Given the description of an element on the screen output the (x, y) to click on. 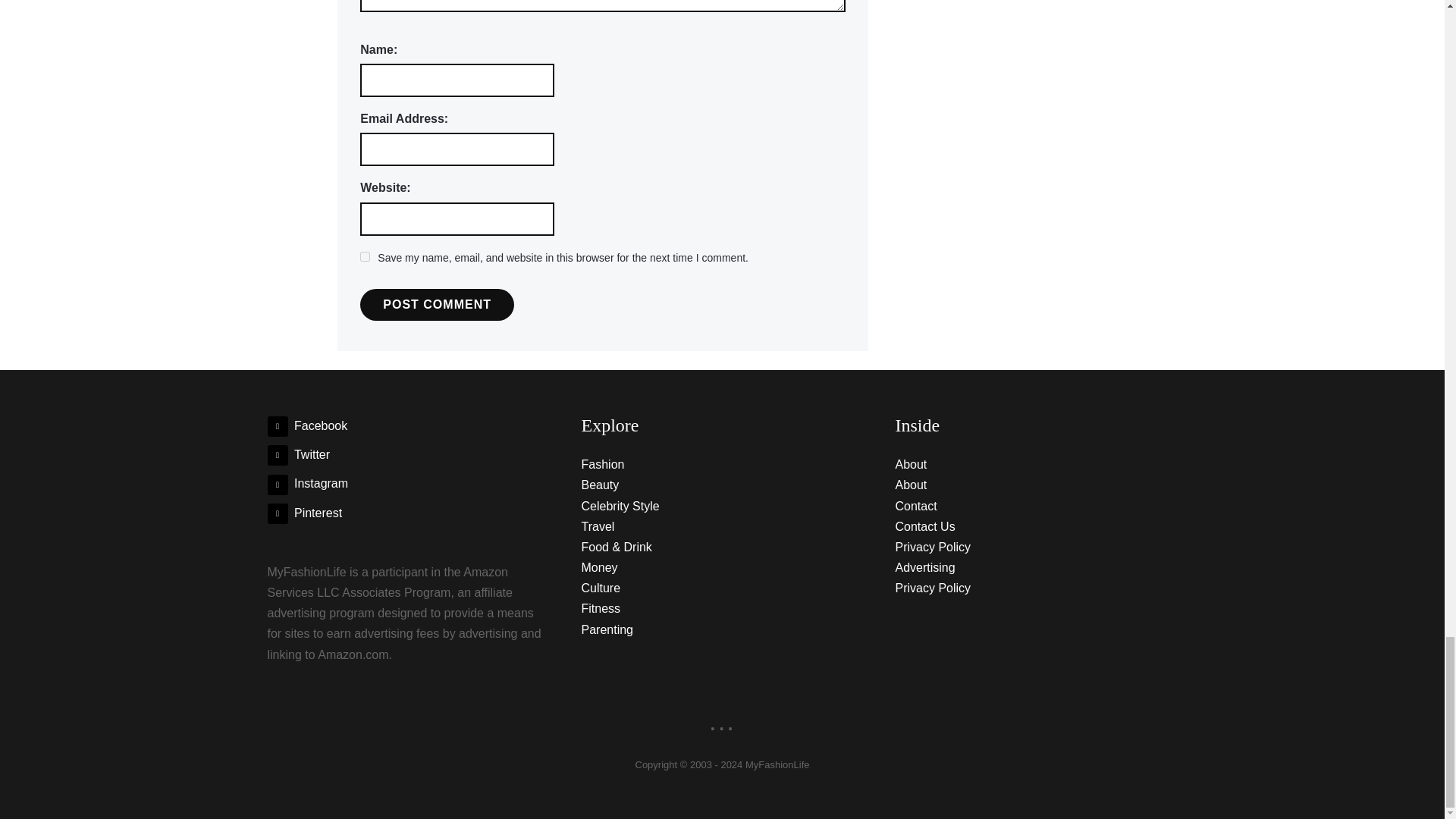
Twitter (298, 454)
Instagram (306, 482)
Facebook (306, 425)
Post Comment (436, 305)
Pinterest (304, 512)
yes (364, 256)
